Given the description of an element on the screen output the (x, y) to click on. 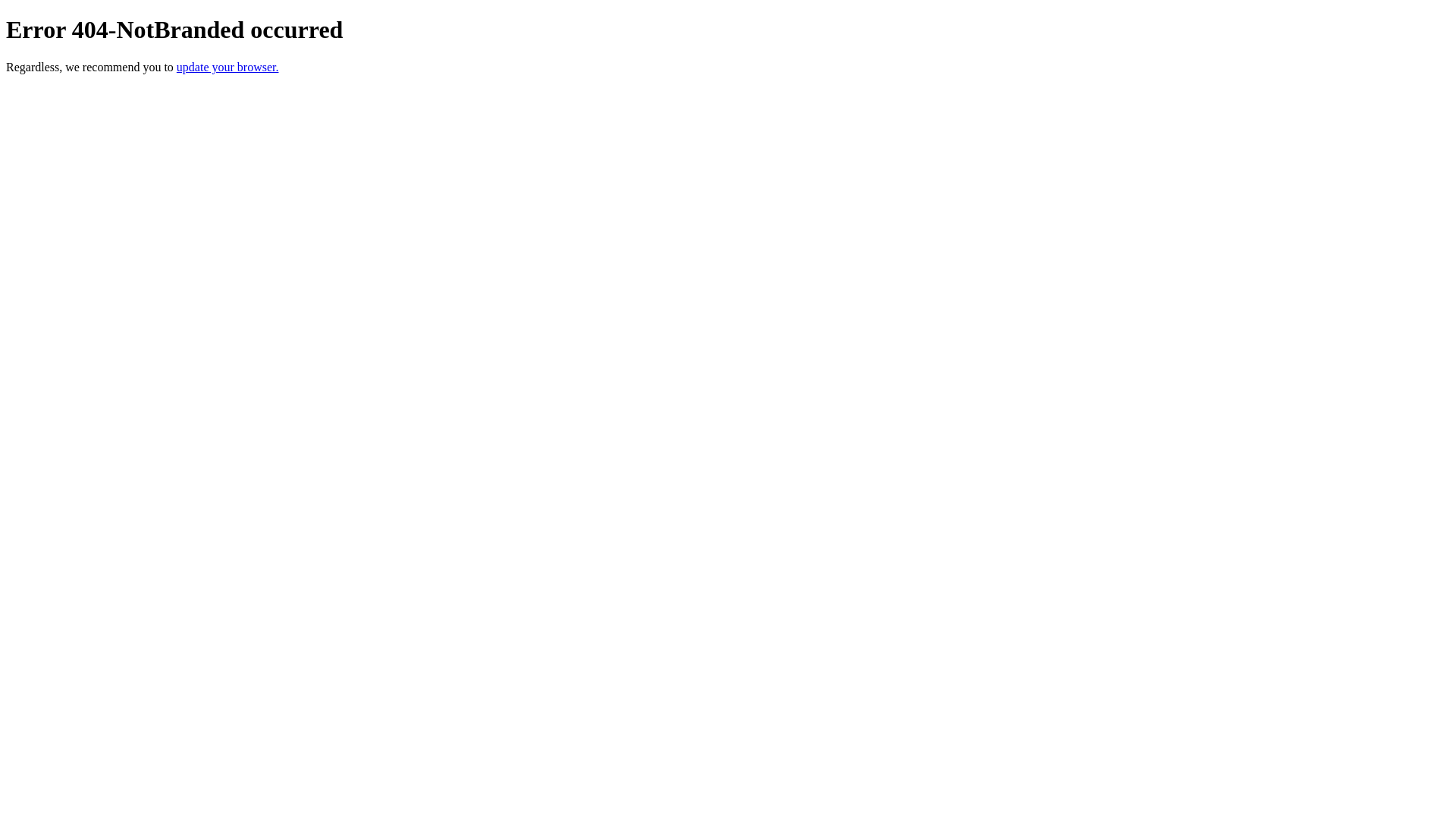
update your browser. Element type: text (227, 66)
